Given the description of an element on the screen output the (x, y) to click on. 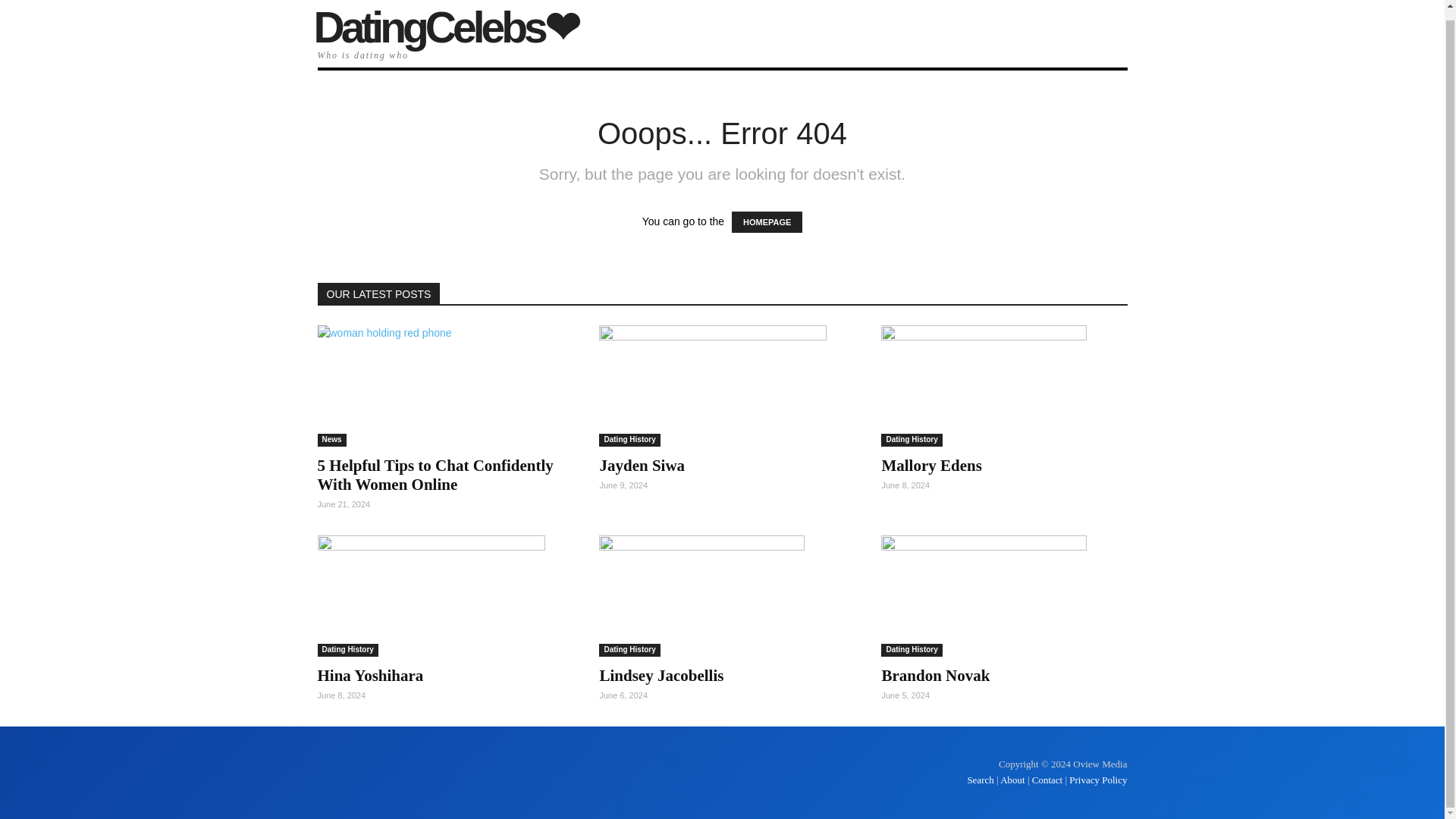
Lindsey Jacobellis (660, 675)
Contact (1047, 779)
Brandon Novak (935, 675)
Jayden Siwa (641, 465)
Mallory Edens (1003, 385)
About (1012, 779)
Dating History (911, 440)
5 Helpful Tips to Chat Confidently With Women Online (435, 474)
Dating History (347, 649)
Hina Yoshihara (370, 675)
Jayden Siwa (641, 465)
5 Helpful Tips to Chat Confidently With Women Online (435, 474)
Dating History (628, 649)
Search (980, 779)
Mallory Edens (930, 465)
